Given the description of an element on the screen output the (x, y) to click on. 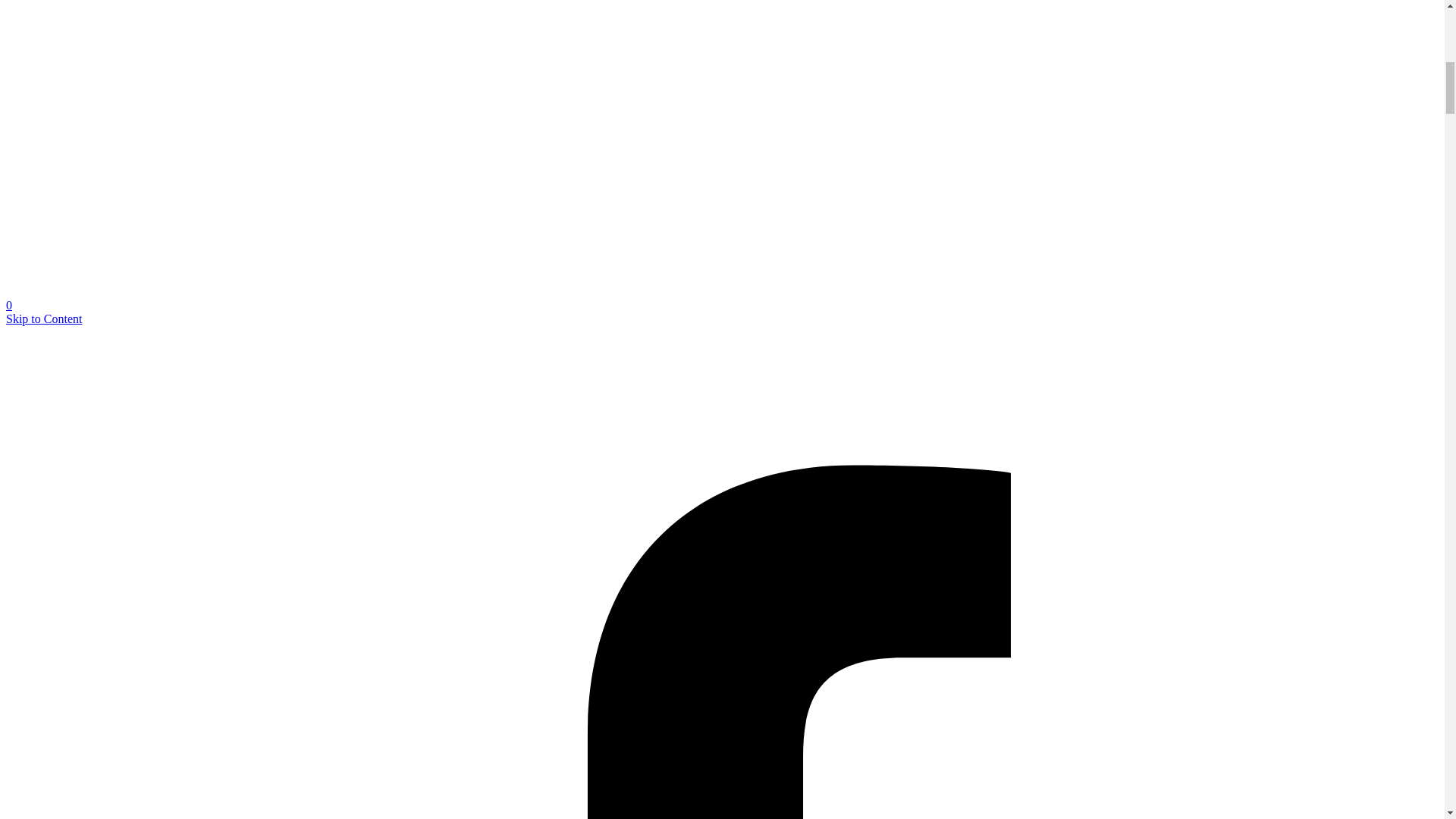
Skip to Content (43, 318)
